Given the description of an element on the screen output the (x, y) to click on. 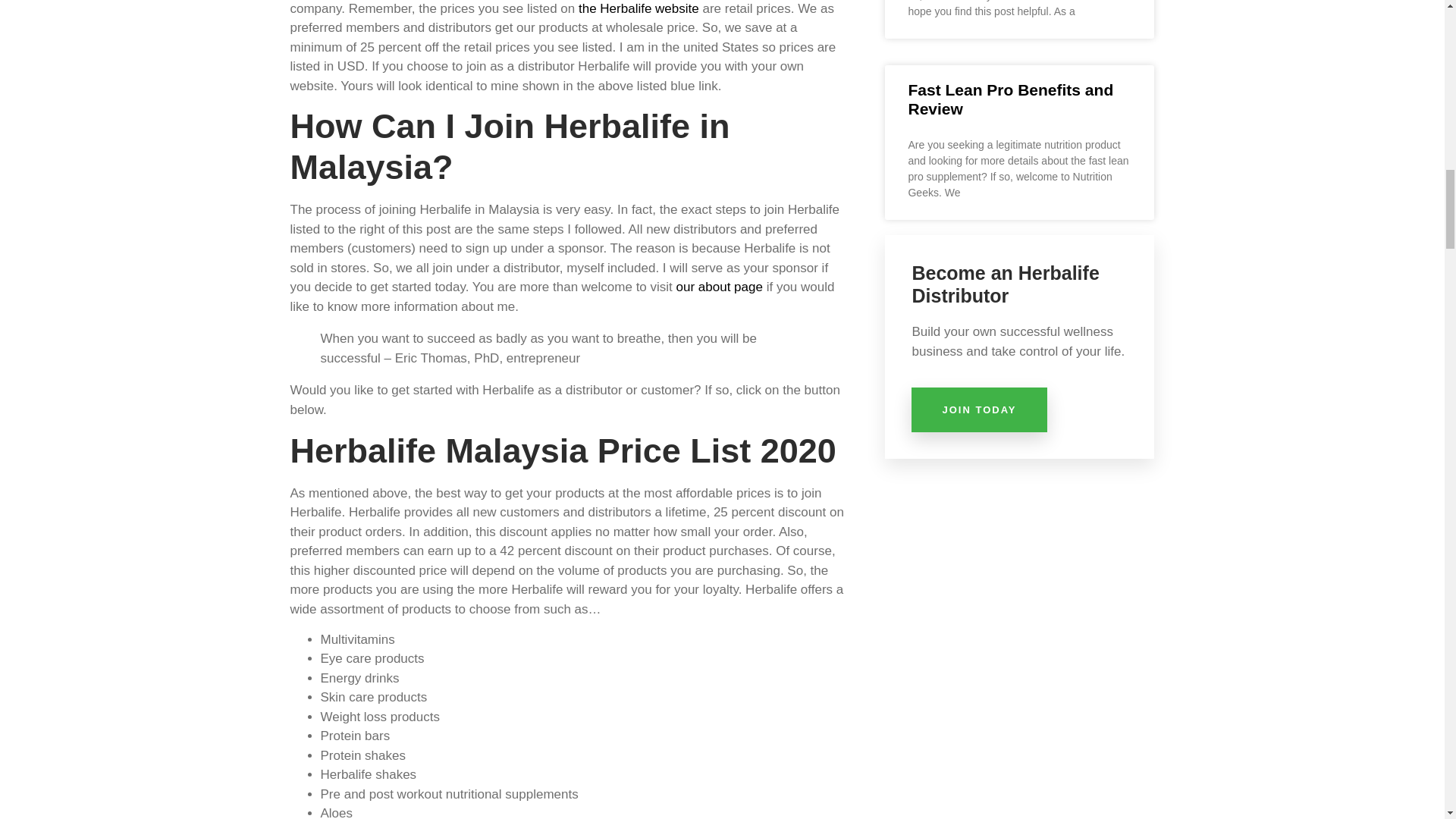
Fast Lean Pro Benefits and Review (1010, 99)
our about page (719, 287)
JOIN TODAY (978, 410)
the Herbalife website (638, 8)
